Given the description of an element on the screen output the (x, y) to click on. 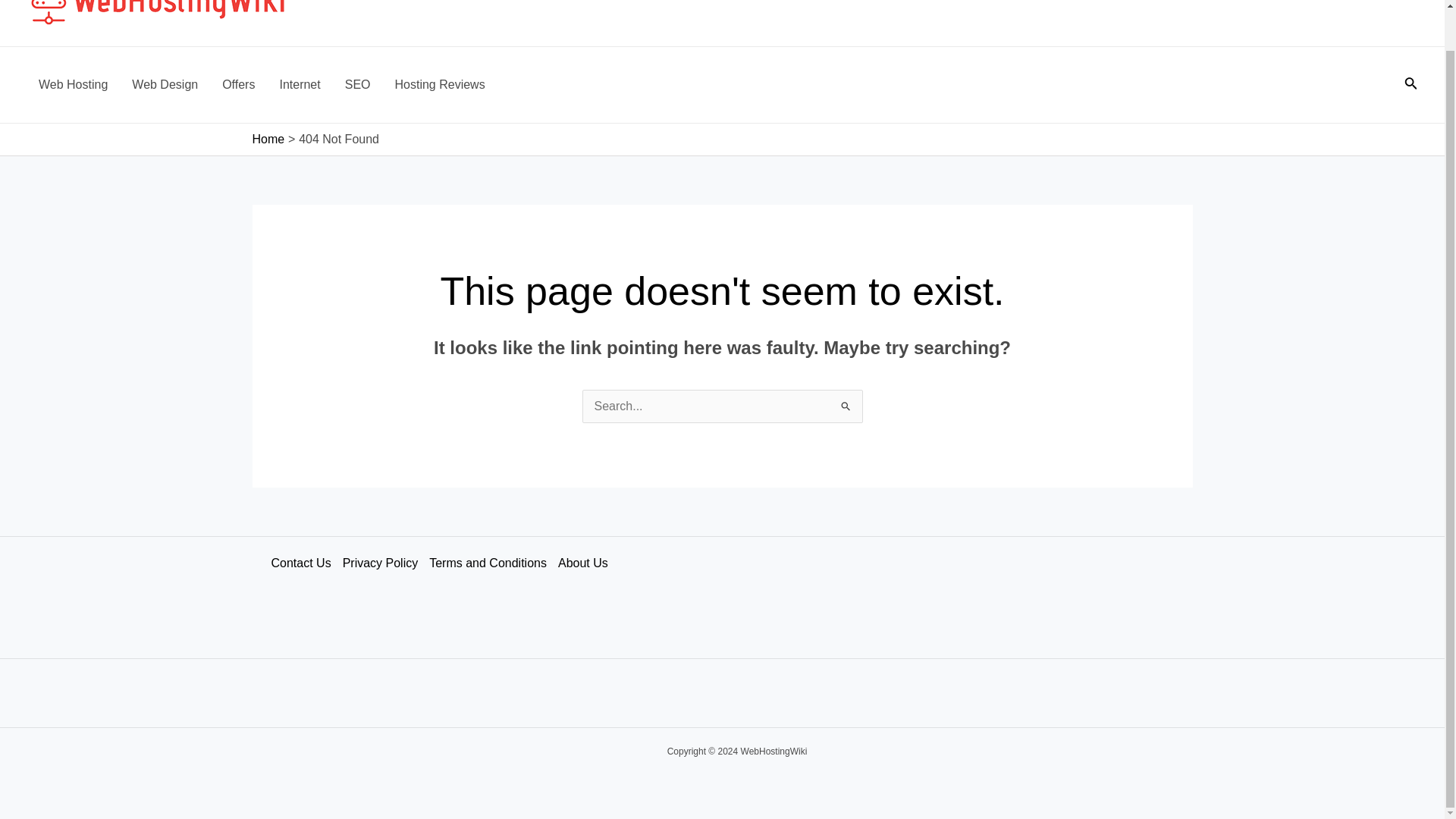
Search (844, 404)
Search (844, 404)
Terms and Conditions (493, 563)
Contact Us (306, 563)
Web Design (164, 84)
About Us (588, 563)
Search (844, 404)
Web Hosting (72, 84)
Home (267, 138)
Privacy Policy (385, 563)
Hosting Reviews (439, 84)
